Given the description of an element on the screen output the (x, y) to click on. 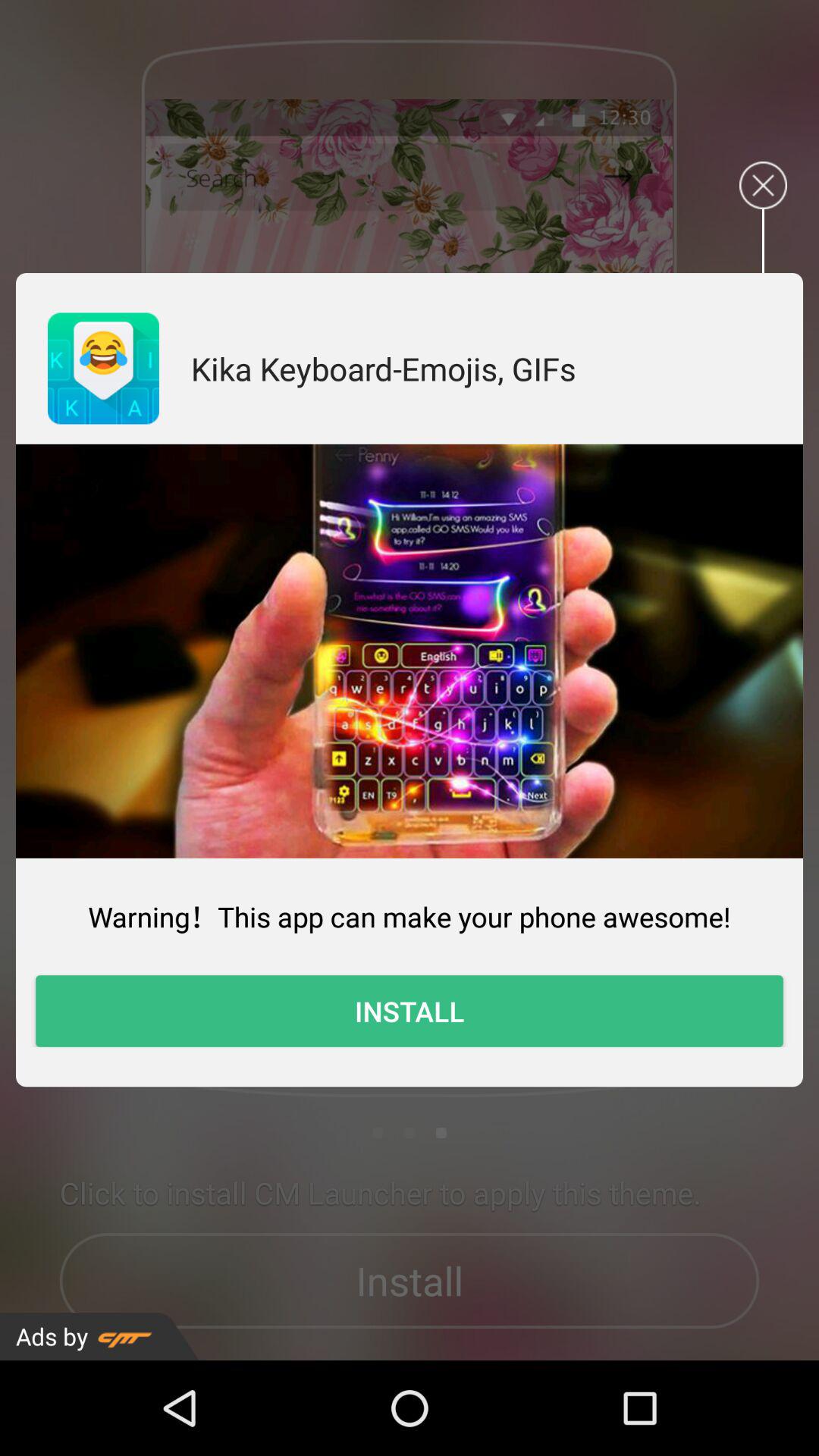
press install item (409, 1011)
